Given the description of an element on the screen output the (x, y) to click on. 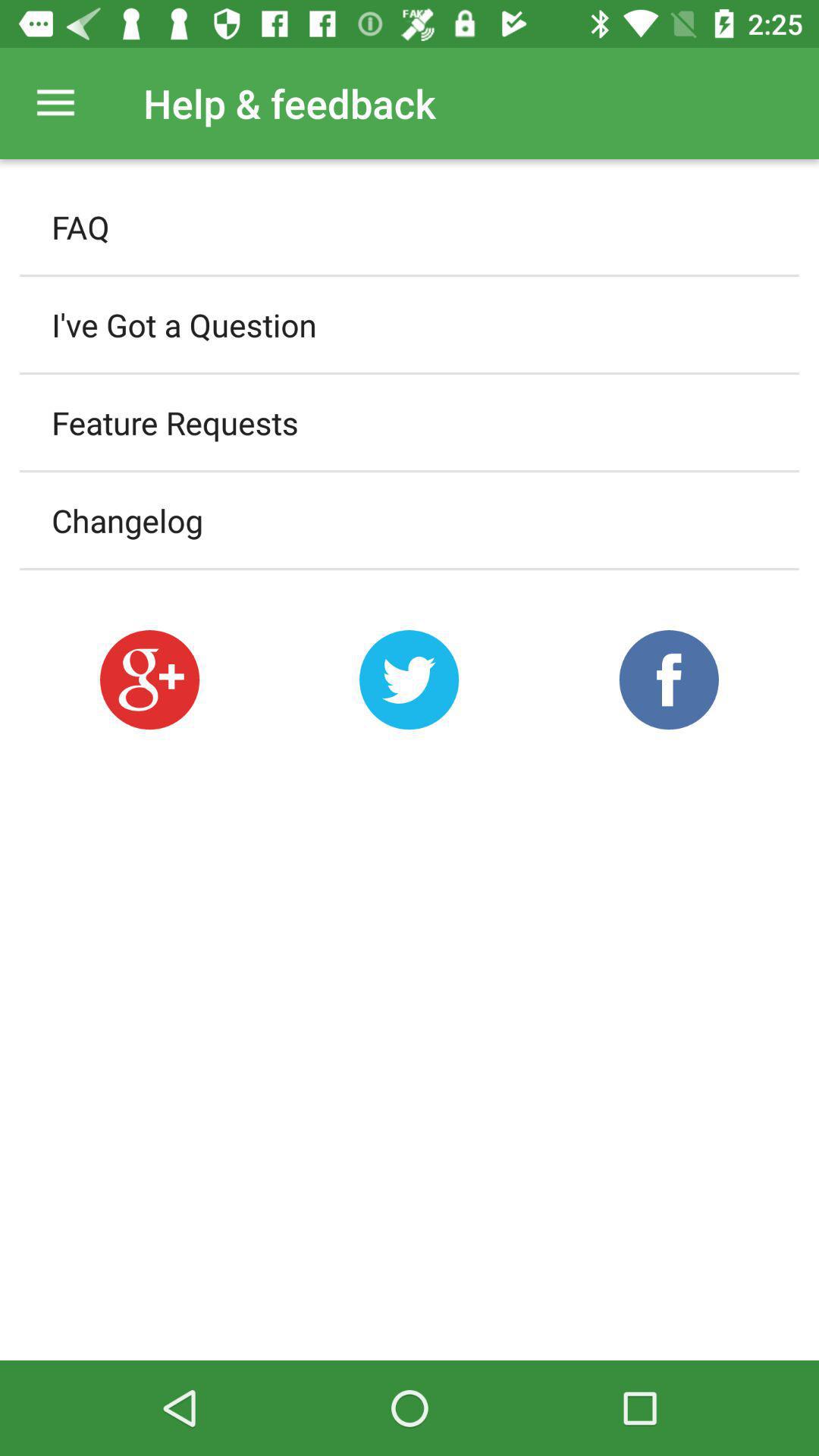
open facebook (669, 679)
